Given the description of an element on the screen output the (x, y) to click on. 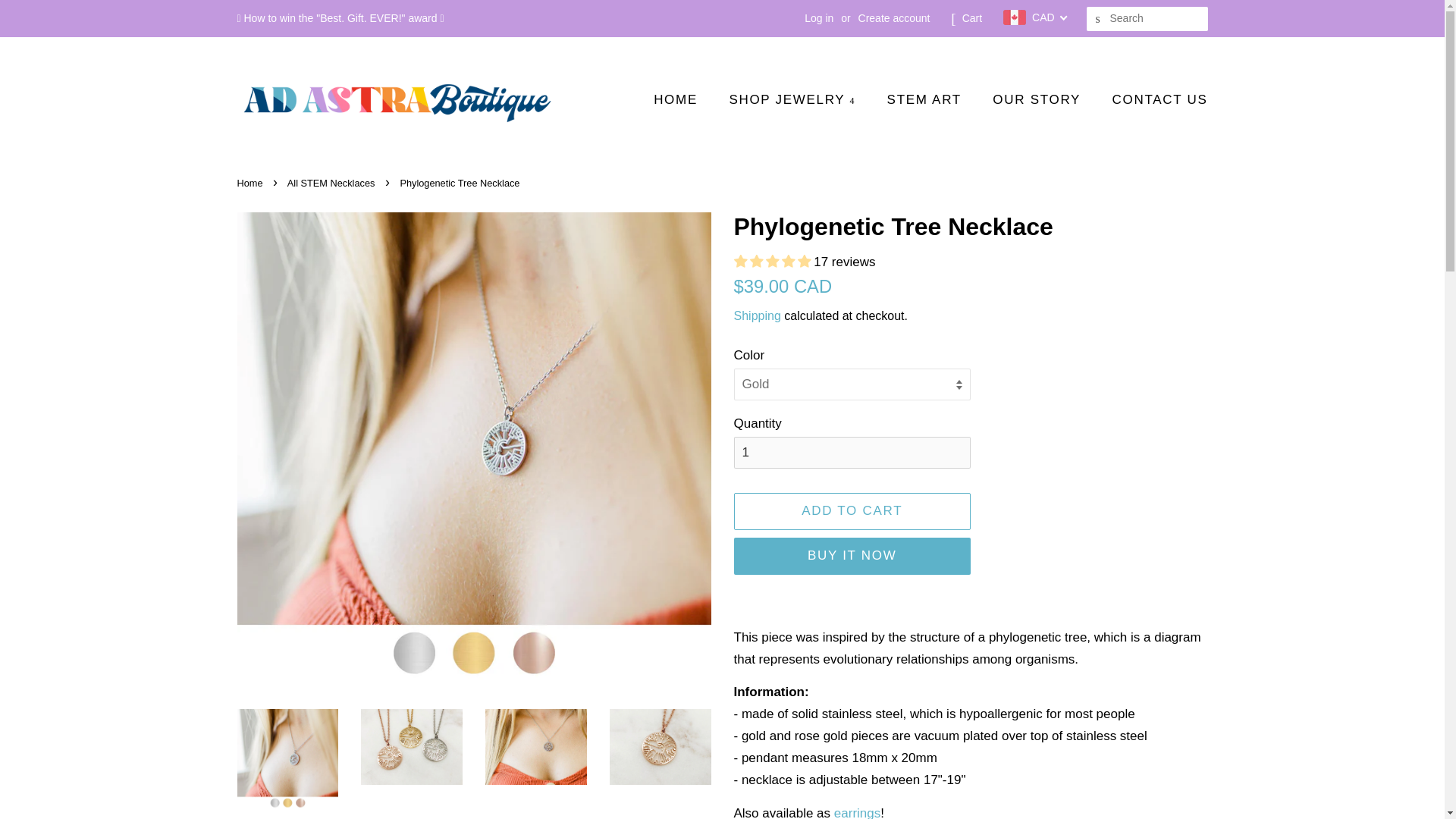
All STEM Necklaces (332, 183)
SHOP JEWELRY (793, 100)
Home (250, 183)
Create account (894, 18)
Cart (971, 18)
OUR STORY (1038, 100)
Back to the frontpage (250, 183)
Phylogenetic tree earrings (857, 812)
Log in (818, 18)
STEM ART (926, 100)
HOME (683, 100)
SEARCH (1097, 18)
CONTACT US (1154, 100)
1 (852, 452)
